Given the description of an element on the screen output the (x, y) to click on. 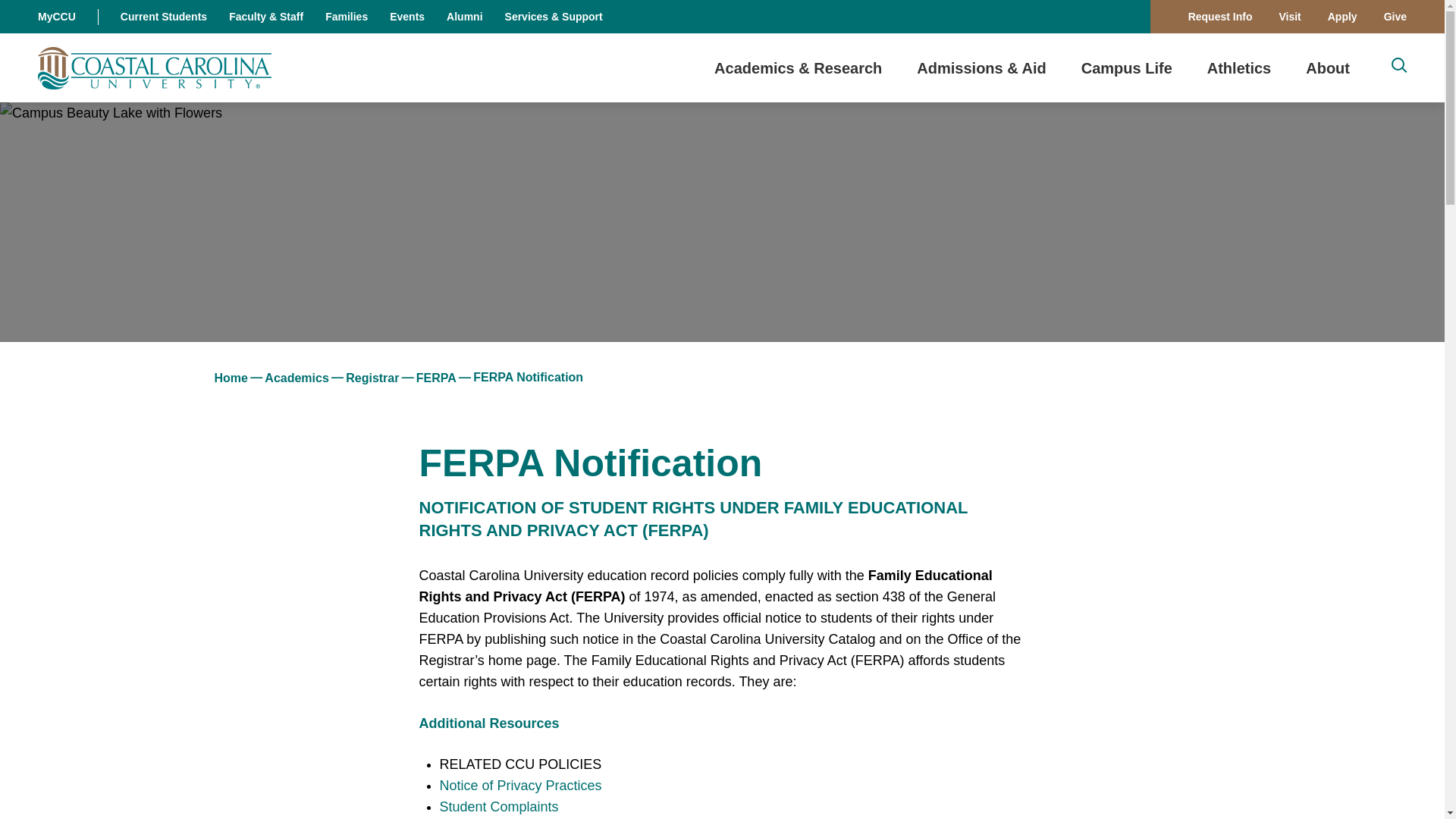
Link to University Policy Notice of Privacy Practices (520, 785)
Coastal Carolina (1126, 67)
Coastal Carolina (153, 67)
Link to University Policy Student Complaints (153, 67)
